Given the description of an element on the screen output the (x, y) to click on. 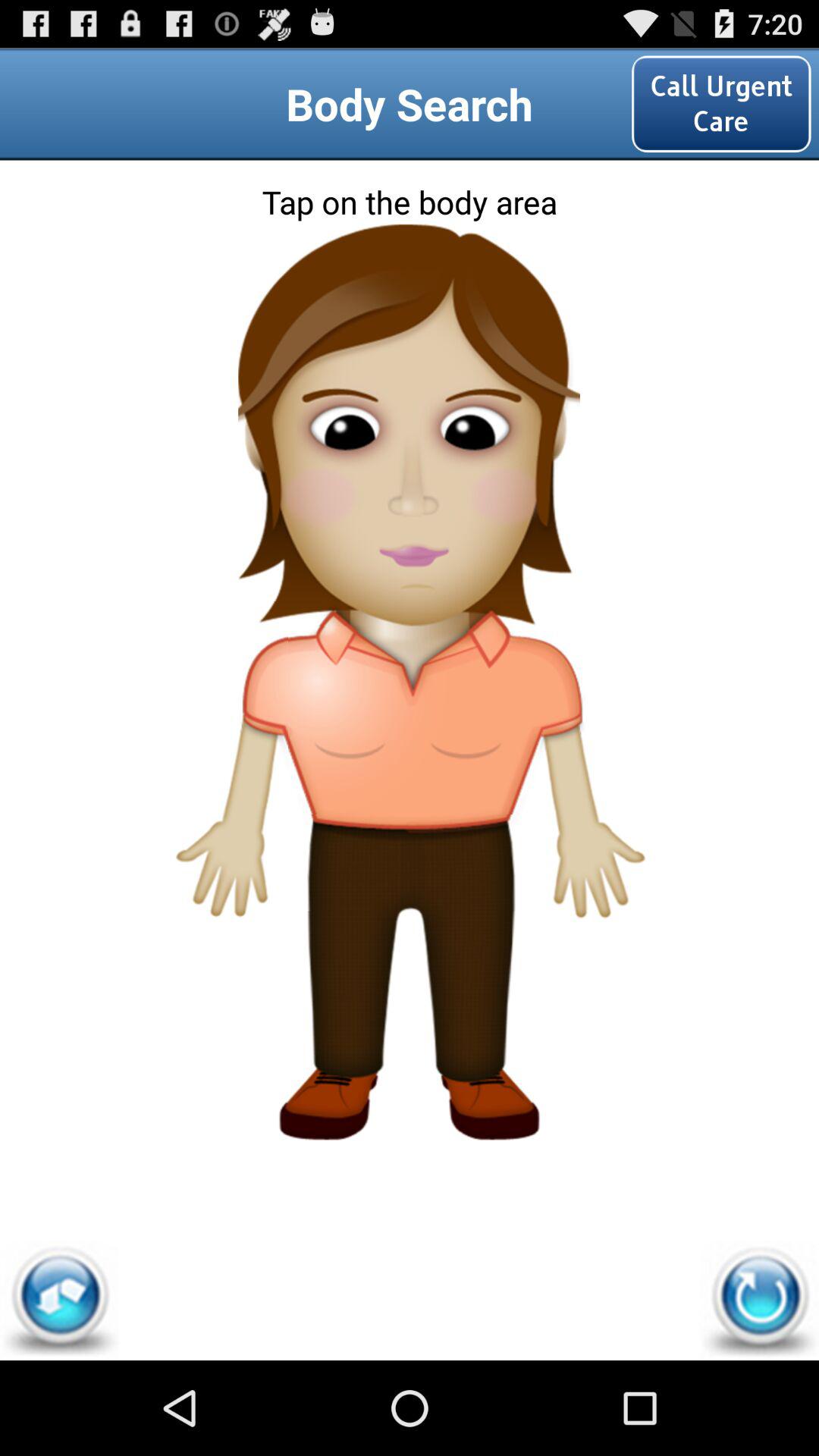
search on shirt (409, 783)
